Given the description of an element on the screen output the (x, y) to click on. 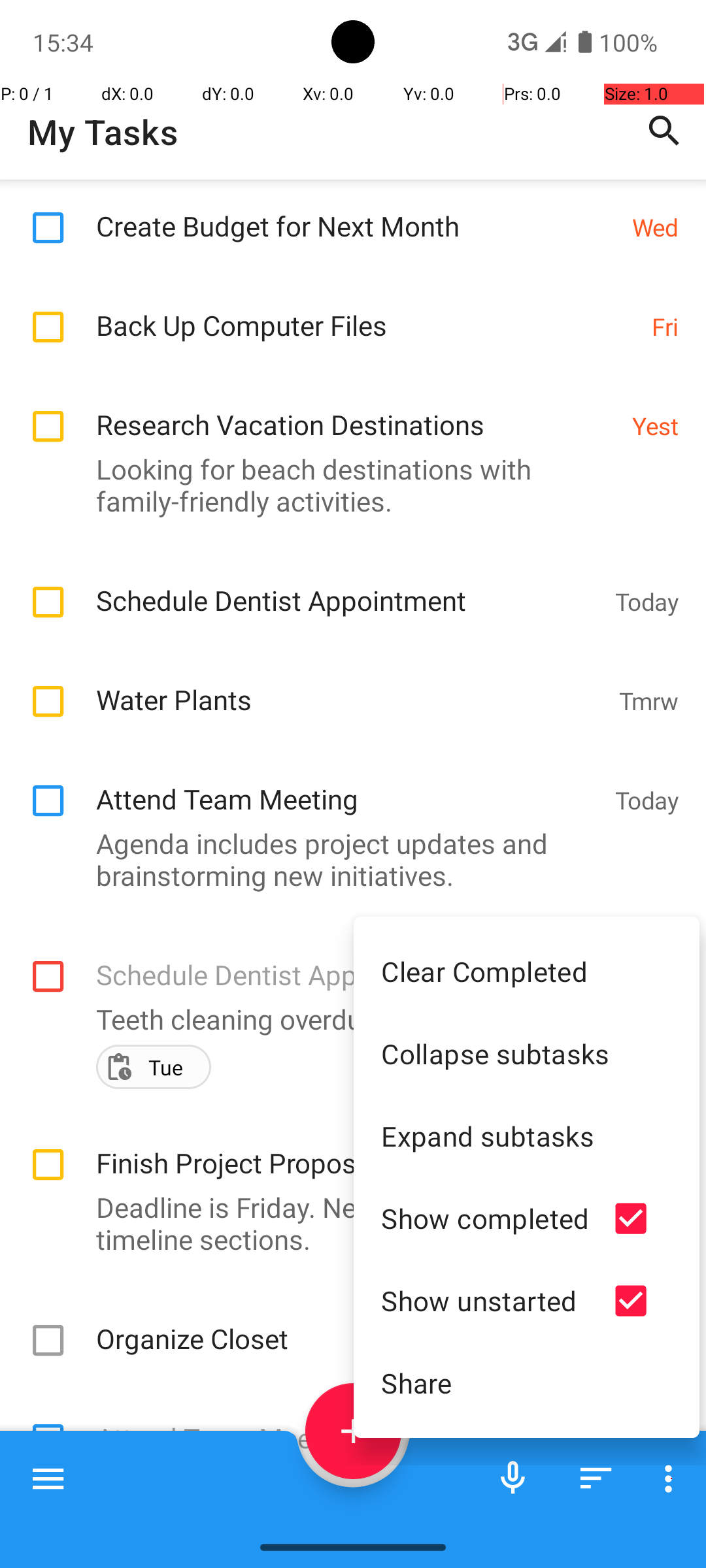
Clear Completed Element type: android.widget.TextView (526, 970)
Collapse subtasks Element type: android.widget.TextView (526, 1053)
Expand subtasks Element type: android.widget.TextView (526, 1135)
Show completed Element type: android.widget.TextView (485, 1217)
Show unstarted Element type: android.widget.TextView (485, 1300)
